Given the description of an element on the screen output the (x, y) to click on. 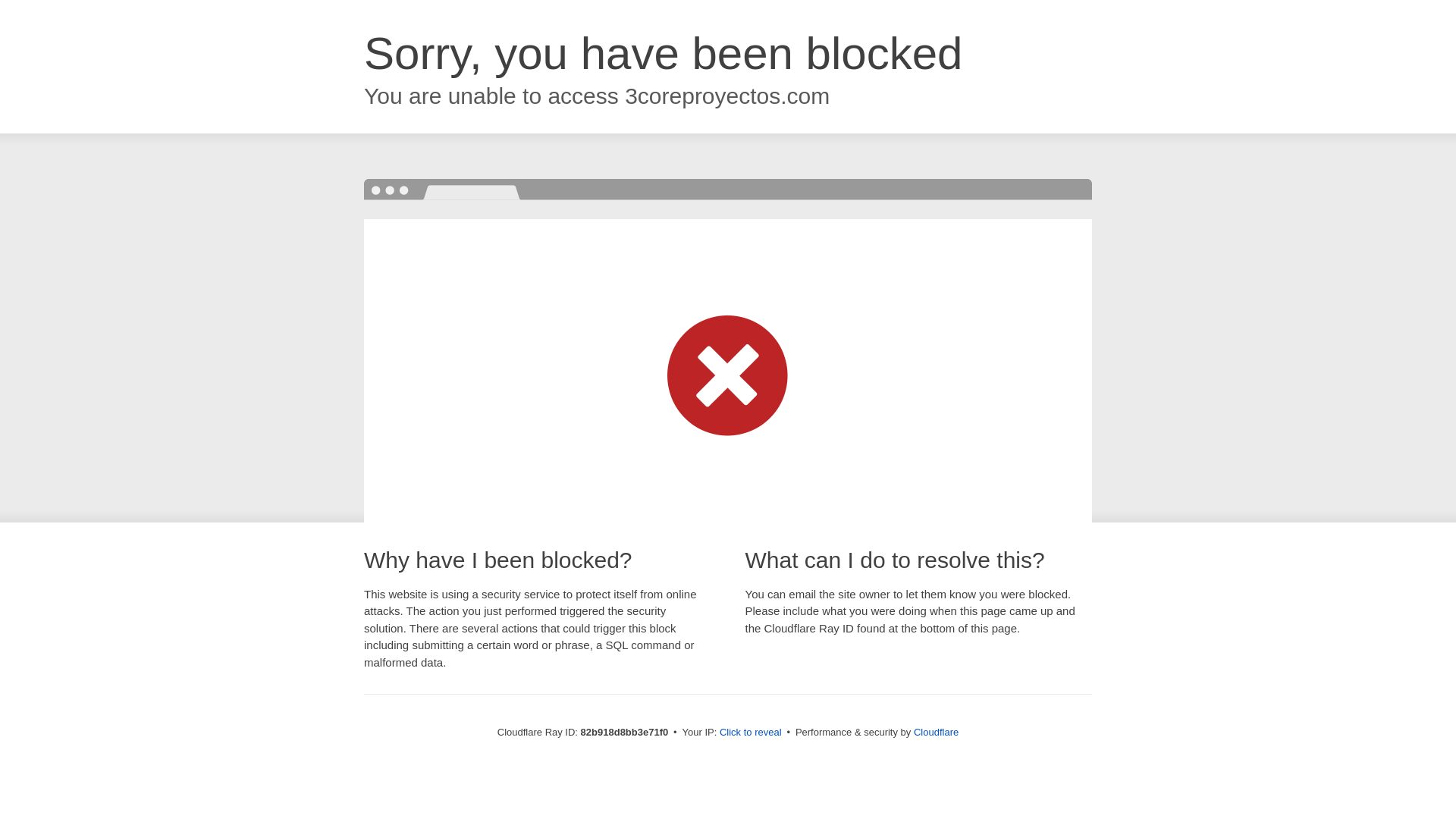
Click to reveal Element type: text (750, 732)
Cloudflare Element type: text (935, 731)
